Given the description of an element on the screen output the (x, y) to click on. 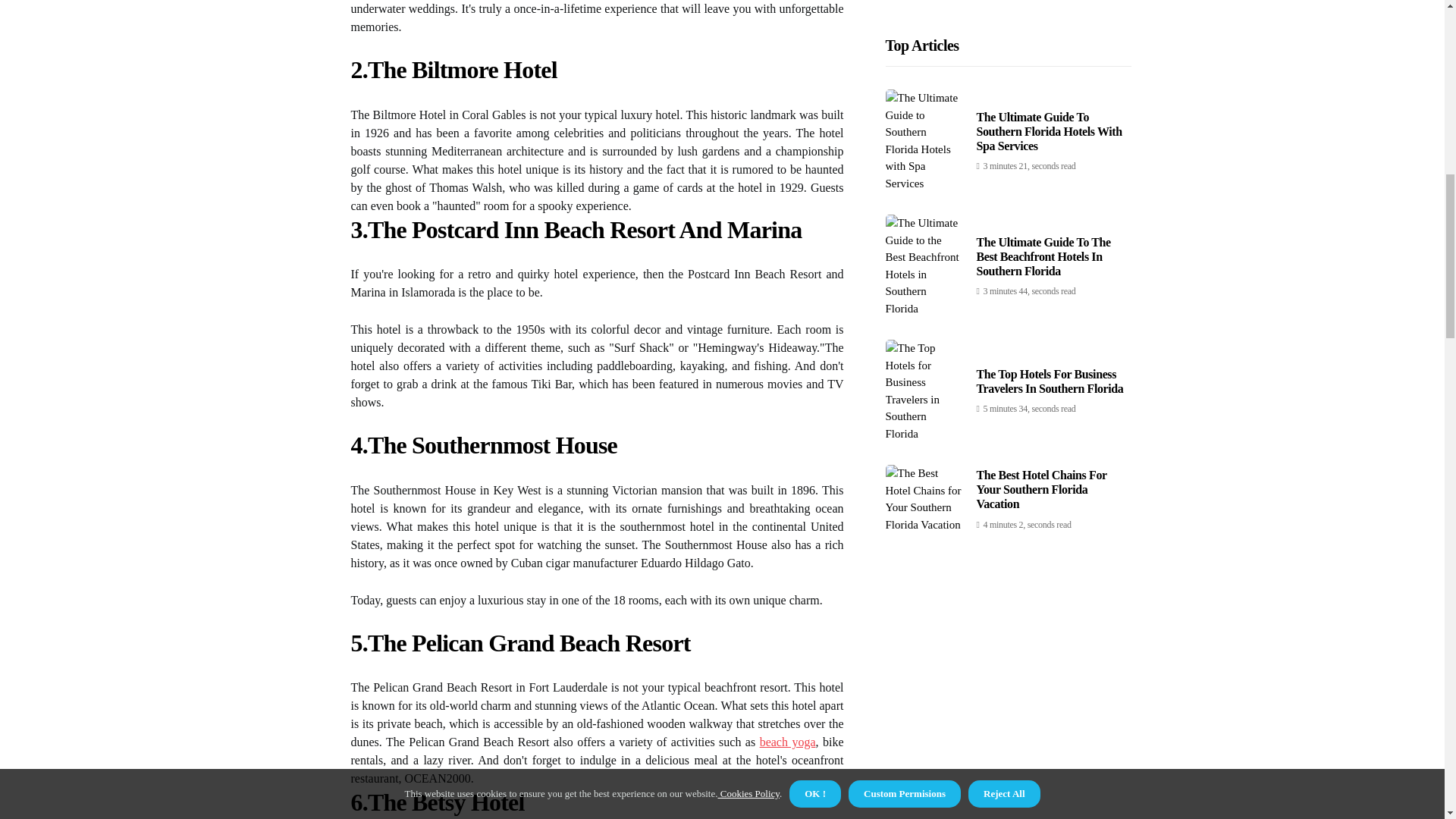
The Top Hotels For Business Travelers In Southern Florida (1050, 56)
The Best Hotel Chains For Your Southern Florida Vacation (1041, 164)
beach yoga (787, 741)
